Given the description of an element on the screen output the (x, y) to click on. 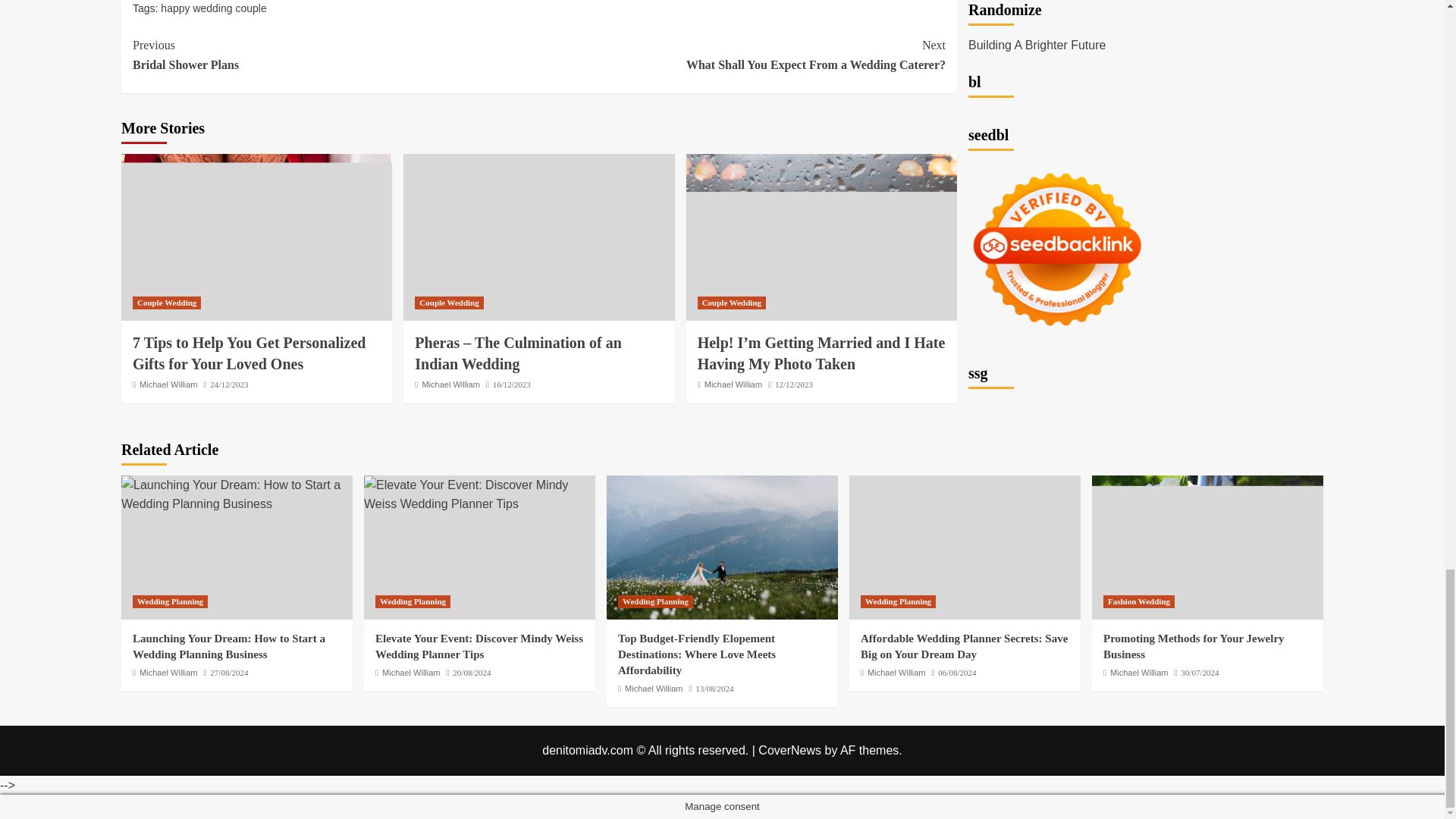
Michael William (741, 55)
Couple Wedding (732, 384)
Couple Wedding (448, 302)
Michael William (166, 302)
Michael William (167, 384)
